Given the description of an element on the screen output the (x, y) to click on. 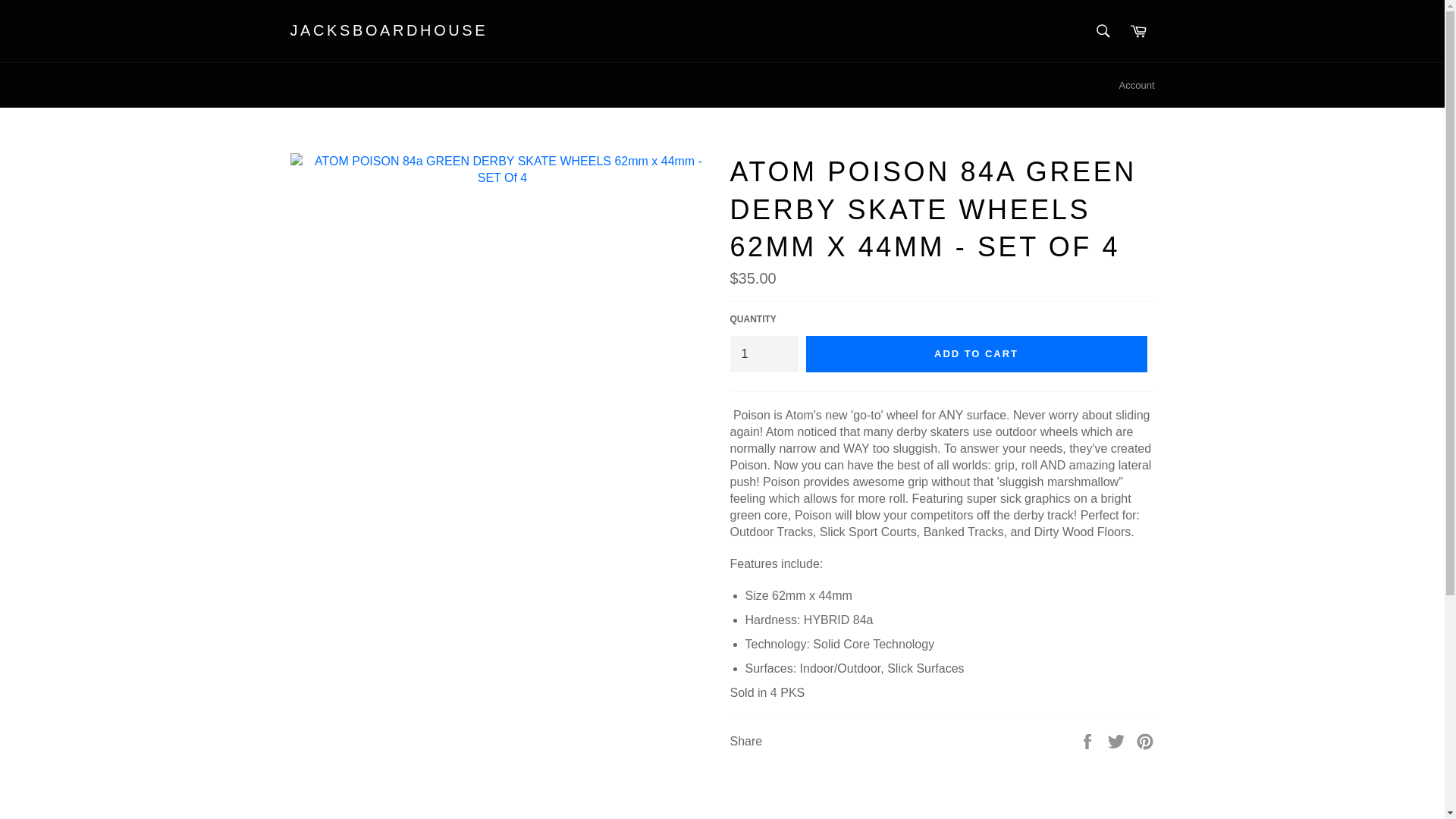
Share on Facebook (1088, 739)
Tweet on Twitter (1117, 739)
1 (763, 353)
Pin on Pinterest (1144, 739)
